Given the description of an element on the screen output the (x, y) to click on. 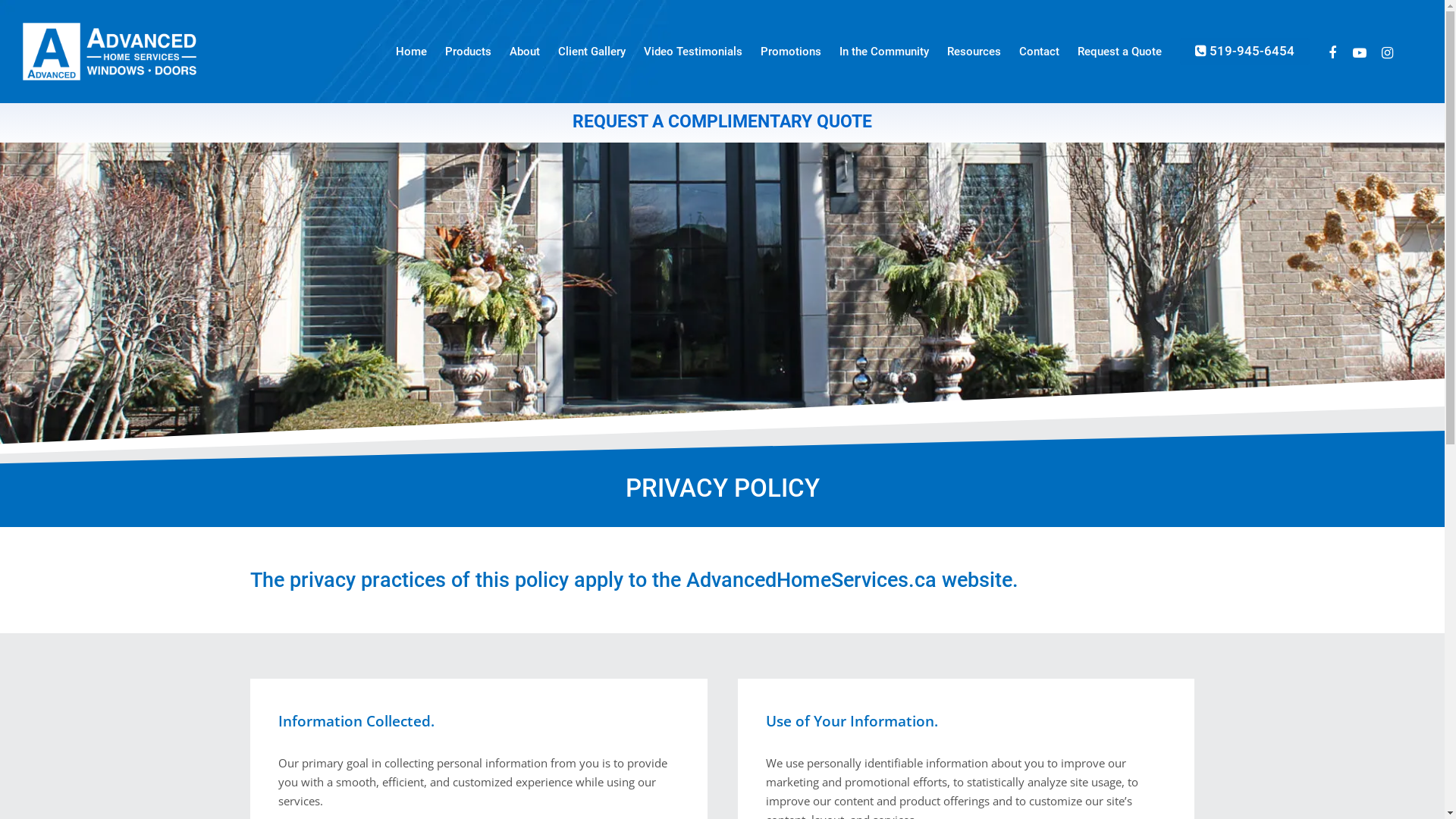
In the Community Element type: text (883, 51)
Resources Element type: text (974, 51)
About Element type: text (524, 51)
Video Testimonials Element type: text (692, 51)
facebook Element type: text (1332, 50)
Contact Element type: text (1039, 51)
Client Gallery Element type: text (591, 51)
Products Element type: text (468, 51)
519-945-6454 Element type: text (1244, 51)
REQUEST A COMPLIMENTARY QUOTE Element type: text (722, 121)
youtube Element type: text (1359, 50)
instagram Element type: text (1386, 50)
Request a Quote Element type: text (1119, 51)
Home Element type: text (410, 51)
Promotions Element type: text (790, 51)
